Given the description of an element on the screen output the (x, y) to click on. 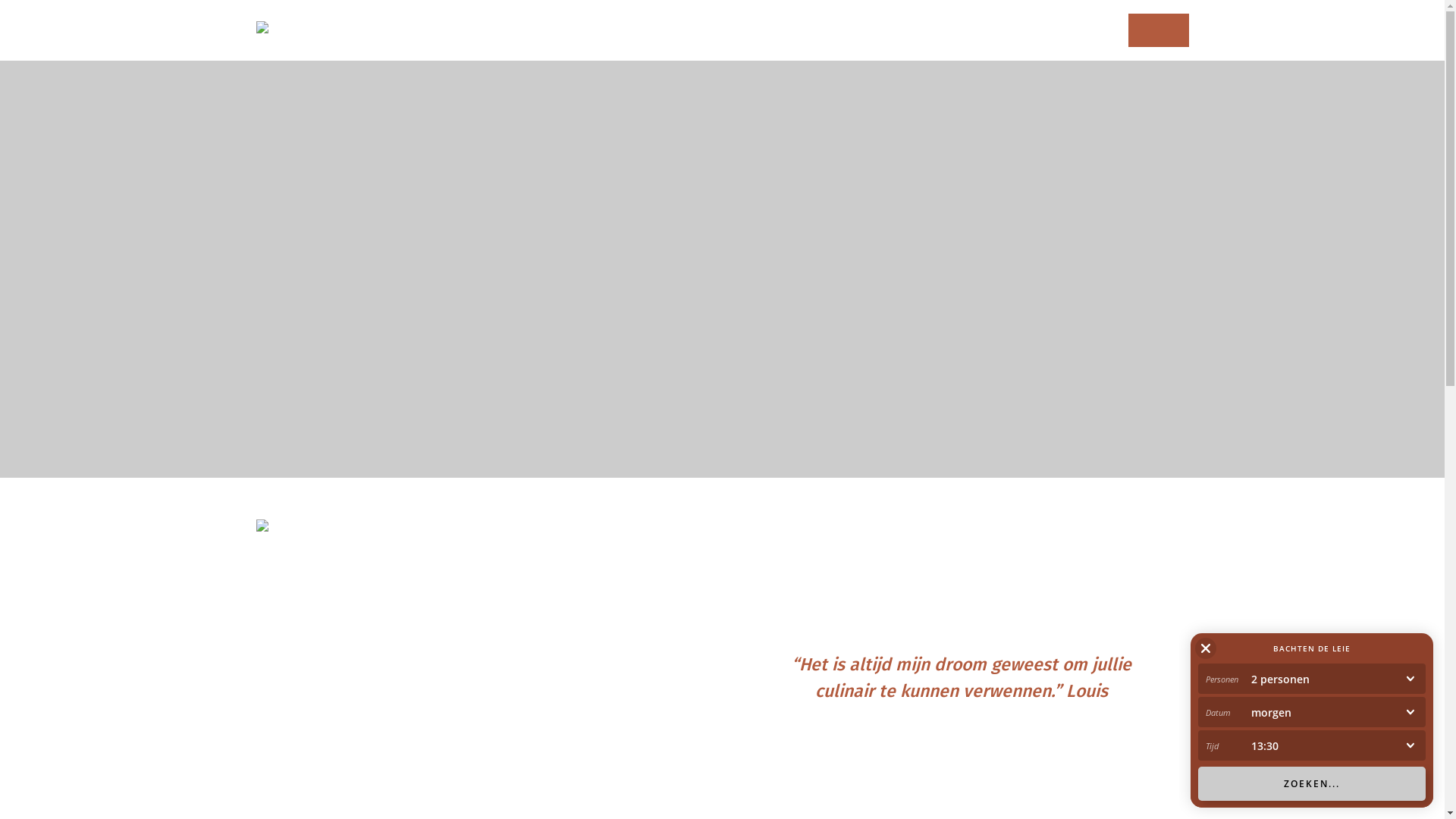
056 18 57 99 Element type: text (1158, 30)
